Given the description of an element on the screen output the (x, y) to click on. 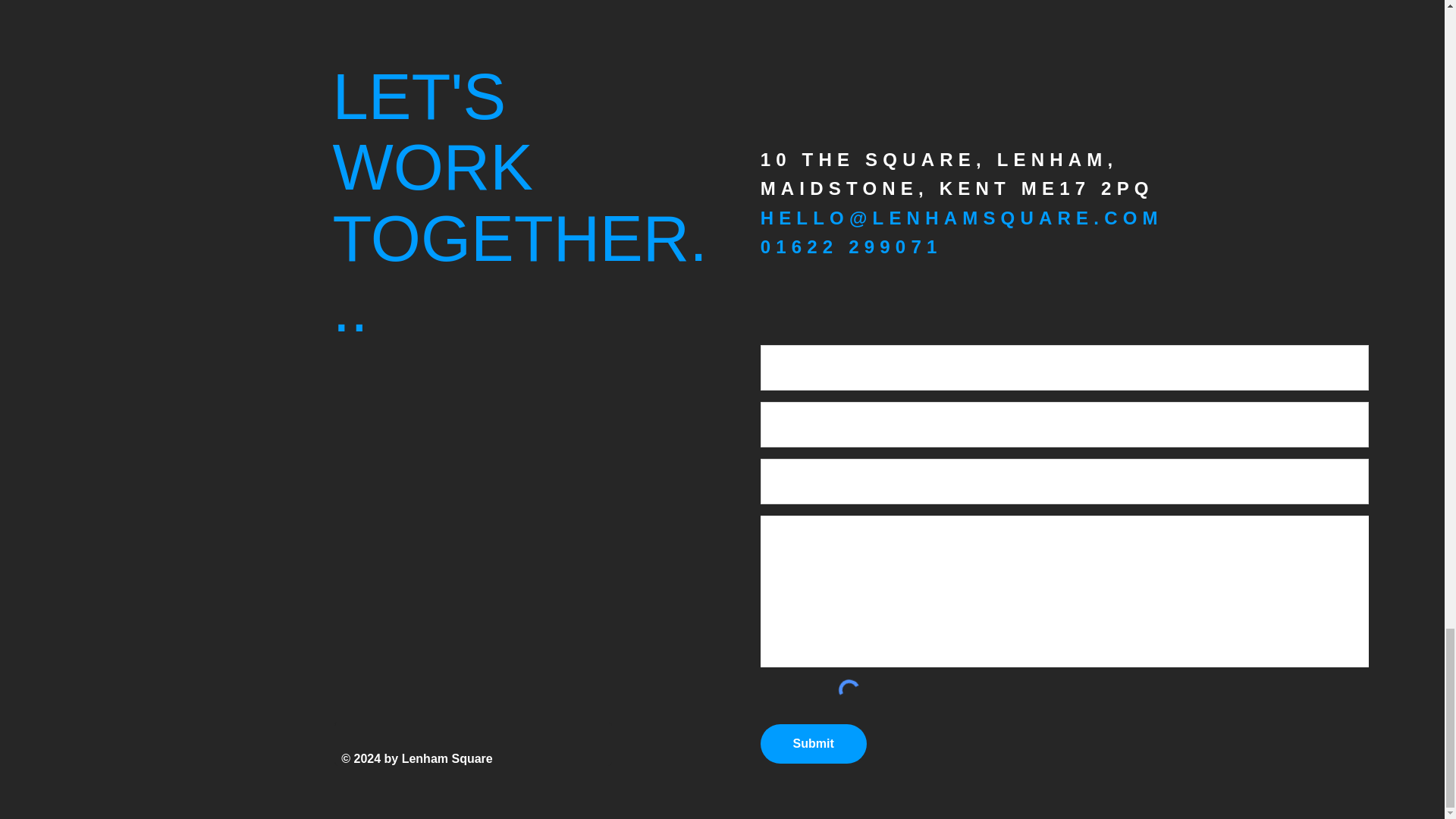
Submit (813, 743)
01622 299071 (851, 246)
